Given the description of an element on the screen output the (x, y) to click on. 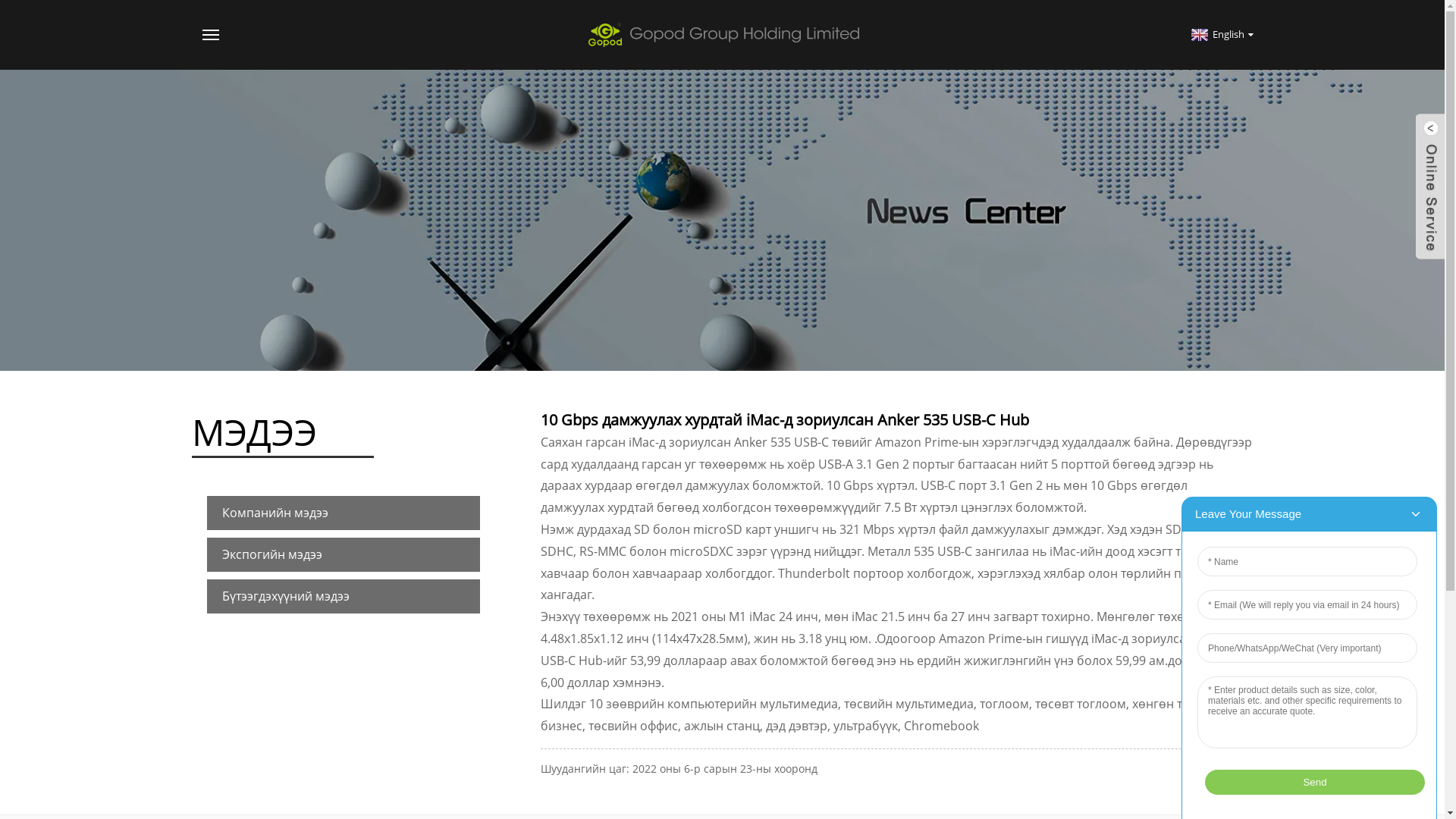
English Element type: text (1220, 33)
